Given the description of an element on the screen output the (x, y) to click on. 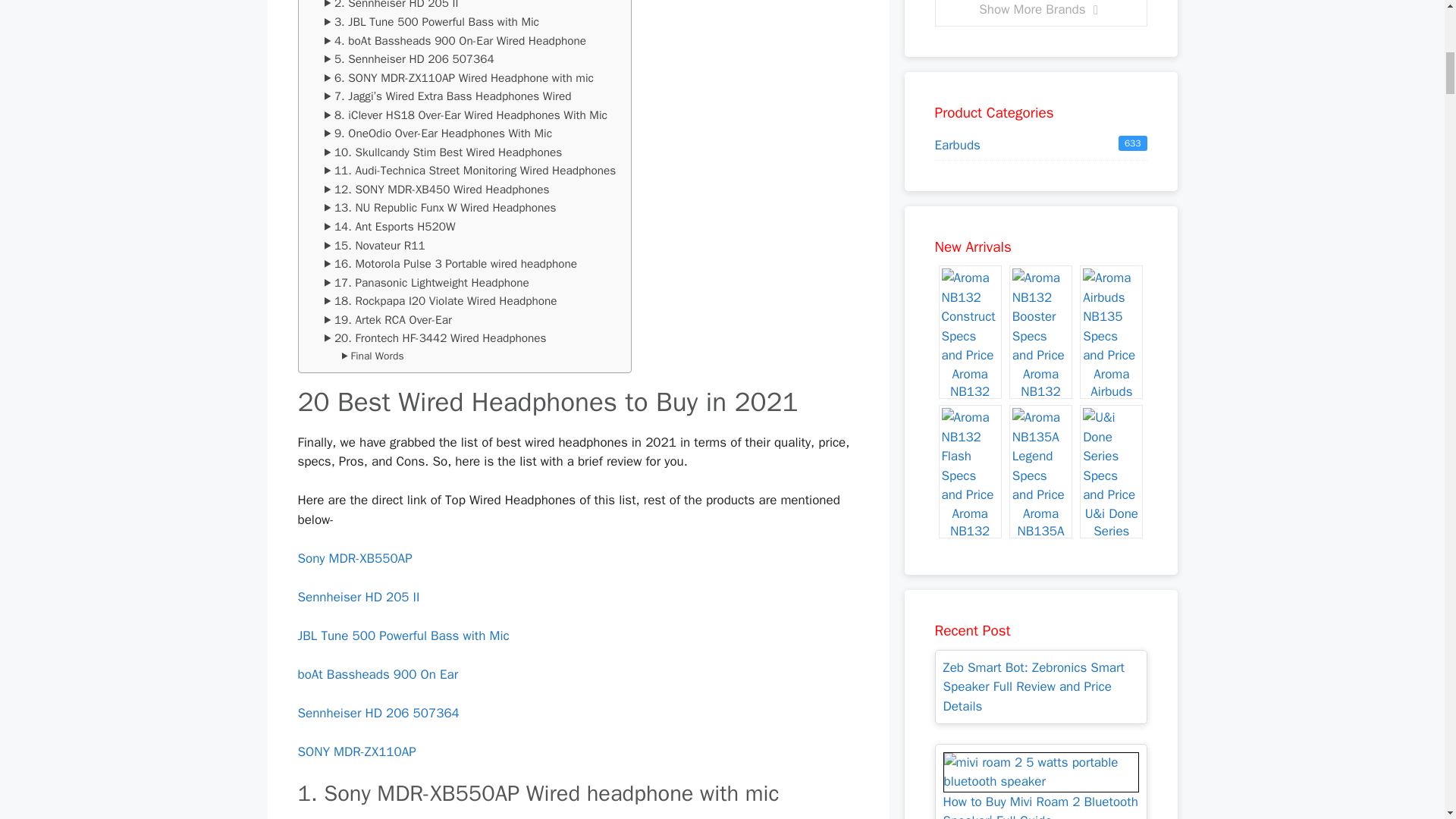
10. Skullcandy Stim Best Wired Headphones (443, 152)
11. Audi-Technica Street Monitoring Wired Headphones (469, 170)
18. Rockpapa I20 Violate Wired Headphone (440, 301)
16. Motorola Pulse 3 Portable wired headphone (450, 263)
Final Words (373, 356)
5. Sennheiser HD 206 507364 (409, 58)
8. iClever HS18 Over-Ear Wired Headphones With Mic (465, 115)
4. boAt Bassheads 900 On-Ear Wired Headphone (455, 40)
3. JBL Tune 500 Powerful Bass with Mic (431, 22)
2. Sennheiser HD 205 II (391, 6)
Sennheiser HD 205 II (358, 596)
19. Artek RCA Over-Ear (387, 320)
2. Sennheiser HD 205 II (391, 6)
6. SONY MDR-ZX110AP Wired Headphone with mic (459, 77)
12. SONY MDR-XB450 Wired Headphones (437, 189)
